Given the description of an element on the screen output the (x, y) to click on. 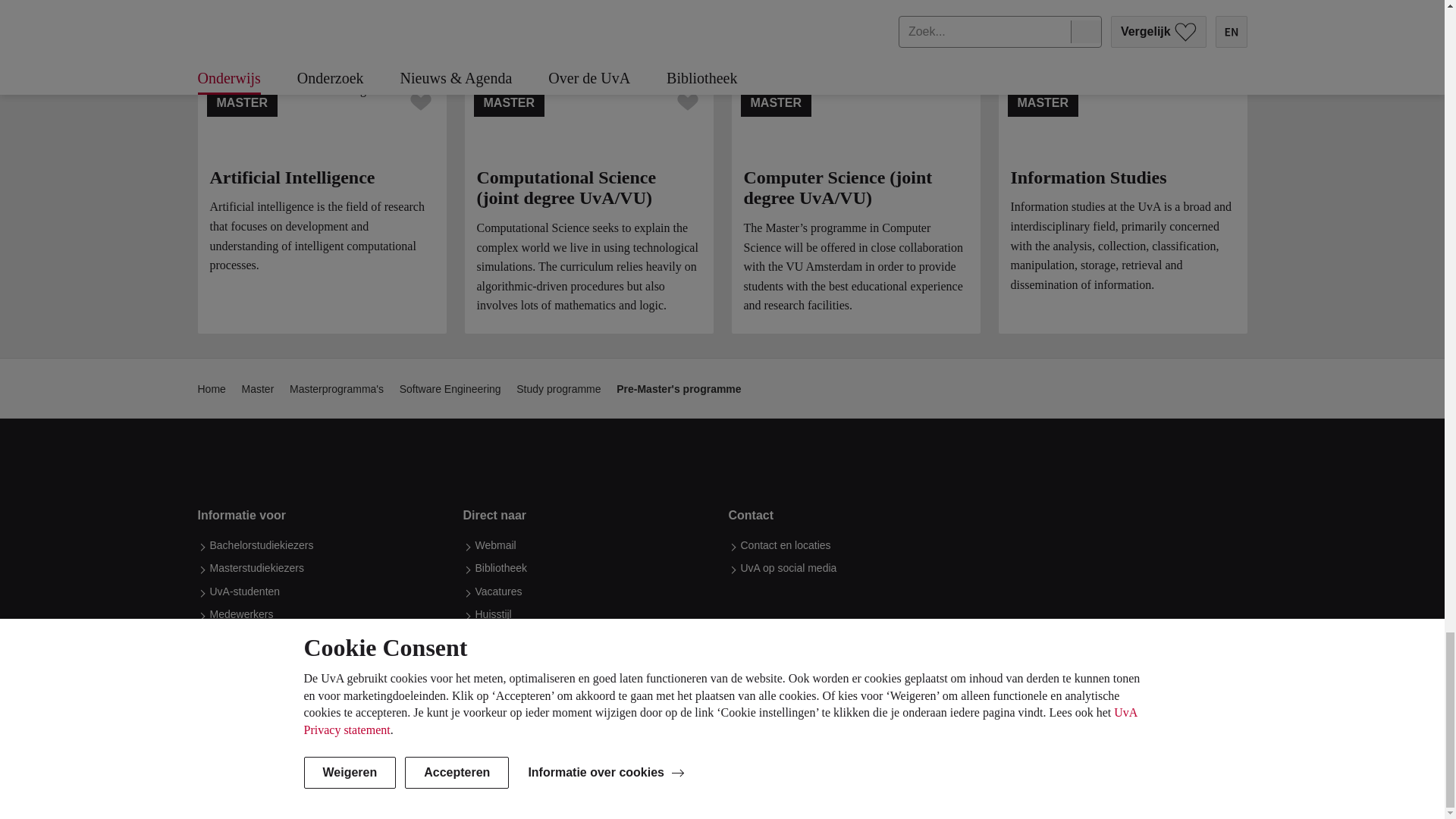
Over deze site (335, 788)
Privacy (398, 788)
Universiteit van Amsterdam (333, 459)
